Given the description of an element on the screen output the (x, y) to click on. 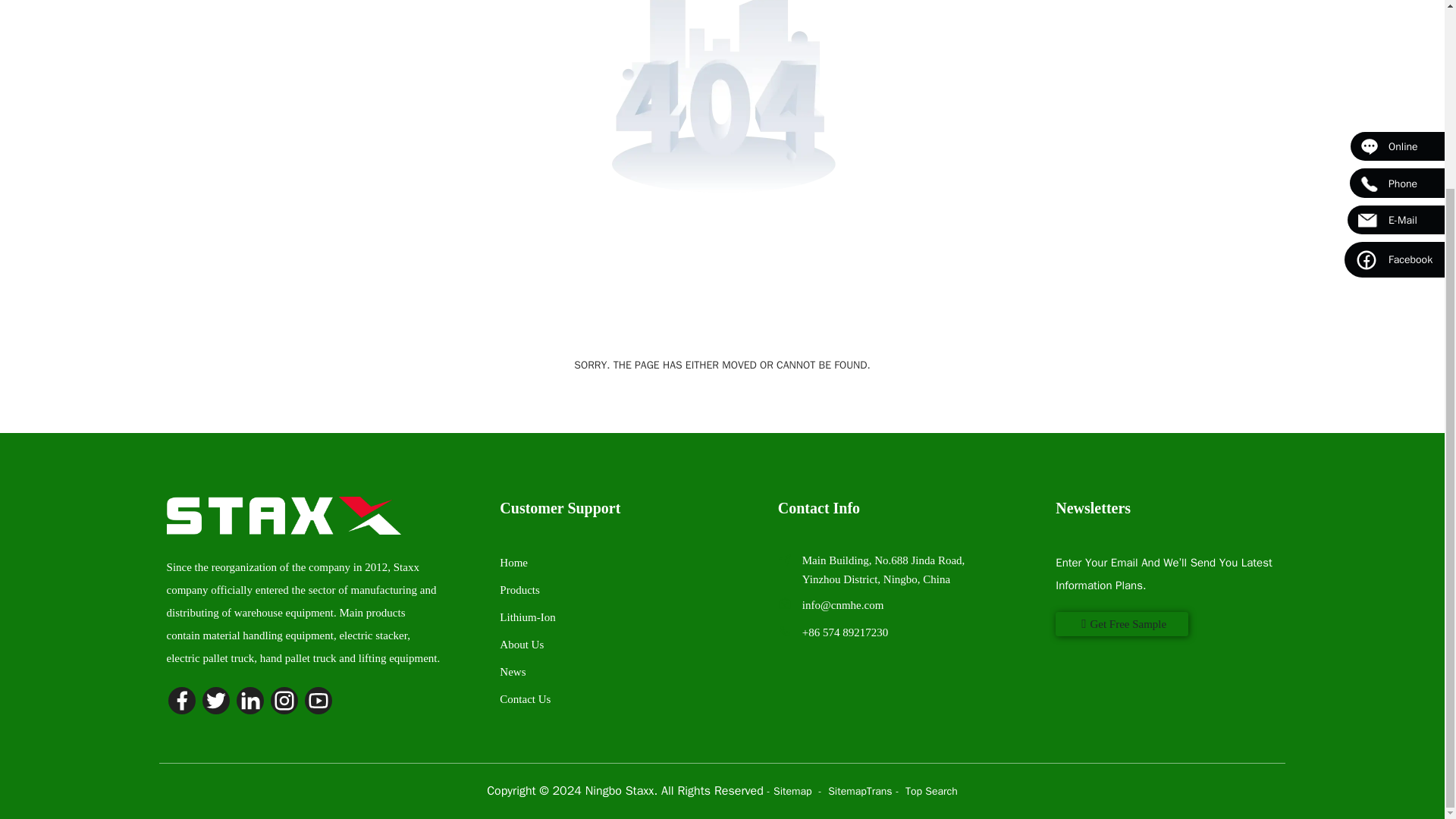
Home (513, 562)
Lithium-Ion (526, 616)
Get Free Sample (1121, 623)
- Sitemap  (791, 790)
Contact Us (524, 698)
News (512, 671)
Facebook (1394, 24)
Products (519, 589)
About Us (521, 644)
